Given the description of an element on the screen output the (x, y) to click on. 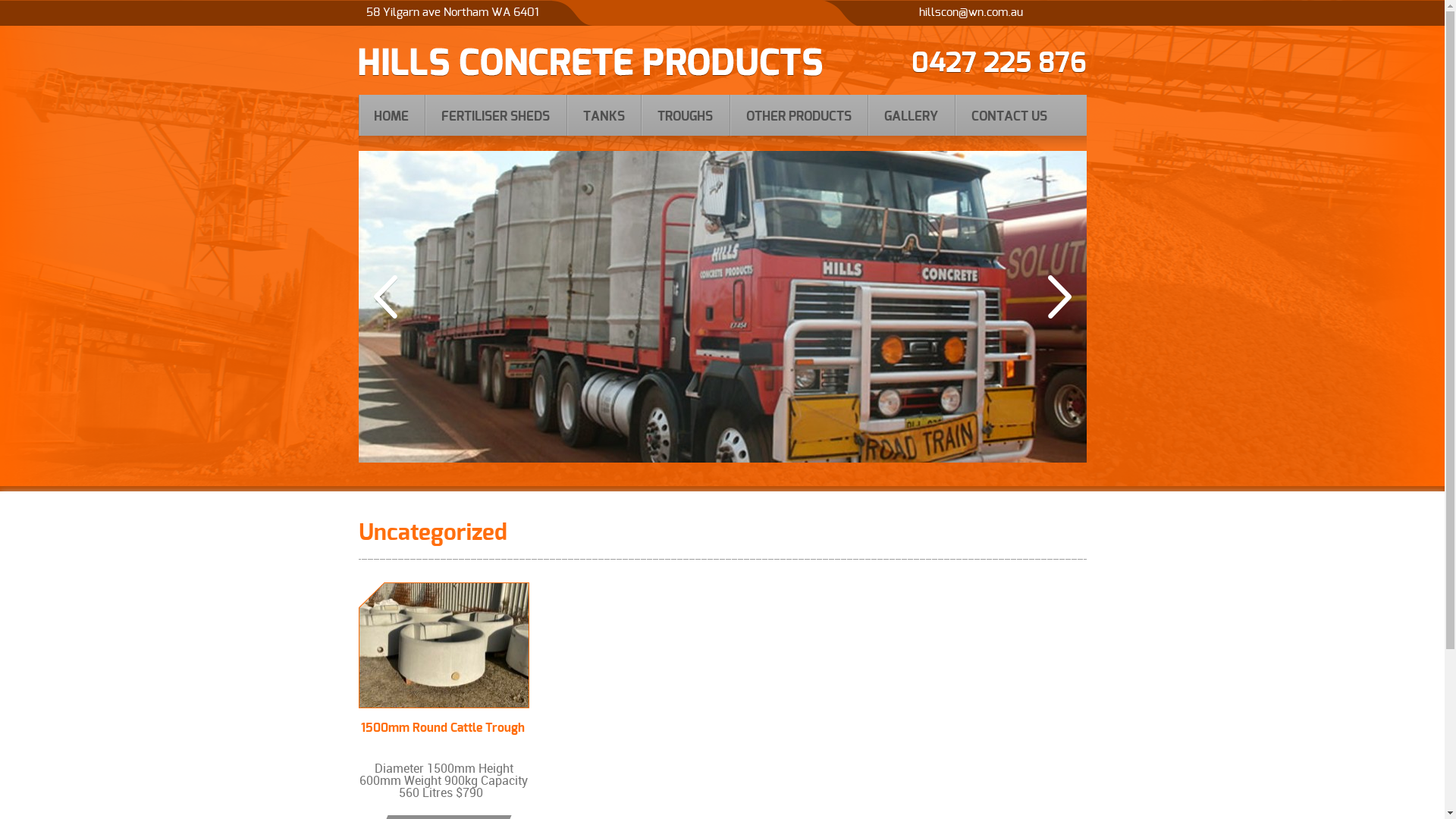
Hills Concrete Element type: hover (589, 72)
TANKS Element type: text (603, 114)
CONTACT US Element type: text (1009, 114)
GALLERY Element type: text (911, 114)
1500mm Round Cattle Trough Element type: text (442, 652)
FERTILISER SHEDS Element type: text (496, 114)
HOME Element type: text (390, 114)
OTHER PRODUCTS Element type: text (799, 114)
hillscon@wn.com.au Element type: text (970, 12)
Next Element type: text (1059, 296)
Prev Element type: text (384, 296)
TROUGHS Element type: text (685, 114)
